Given the description of an element on the screen output the (x, y) to click on. 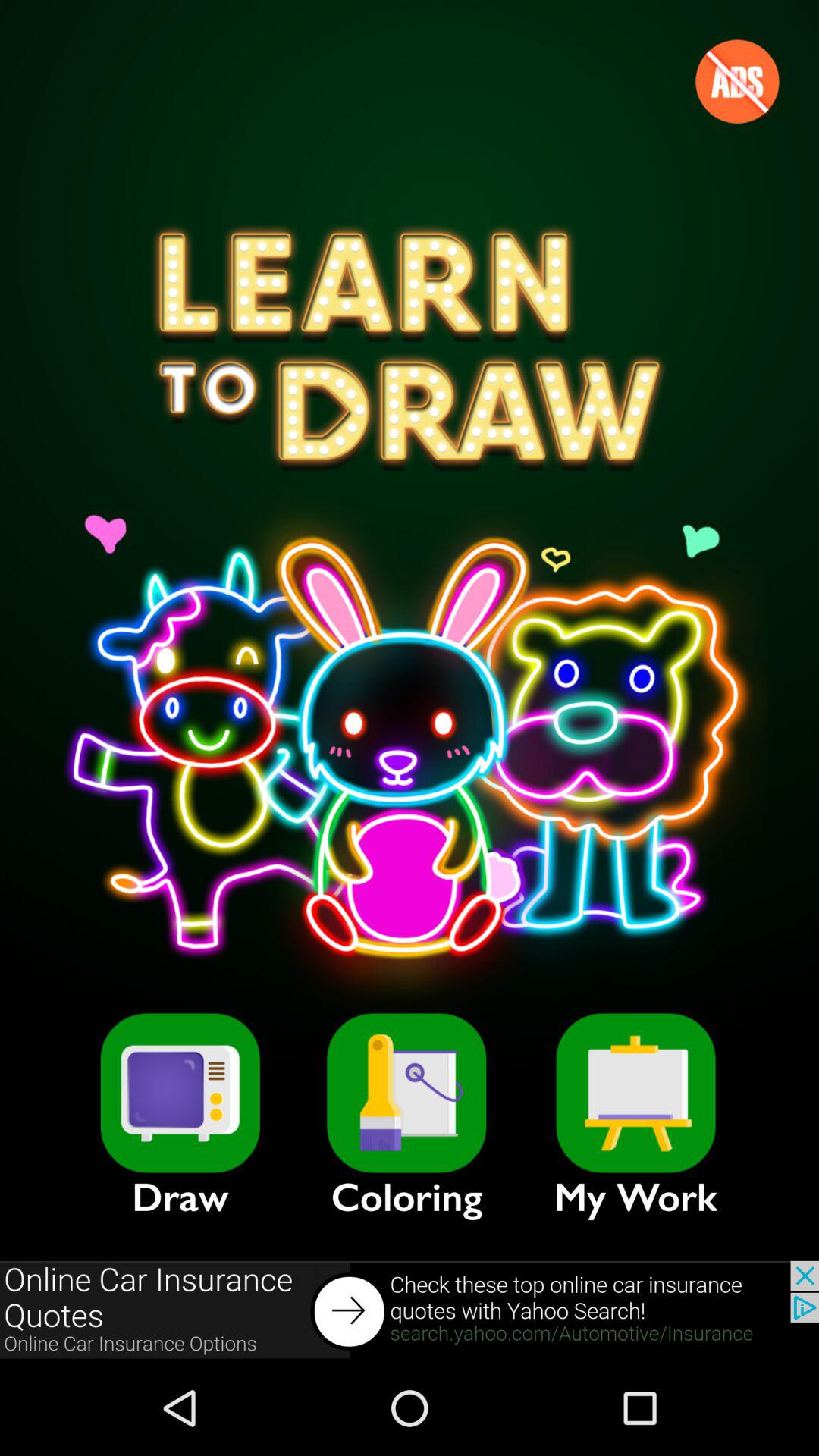
launch item next to the my work item (406, 1092)
